Given the description of an element on the screen output the (x, y) to click on. 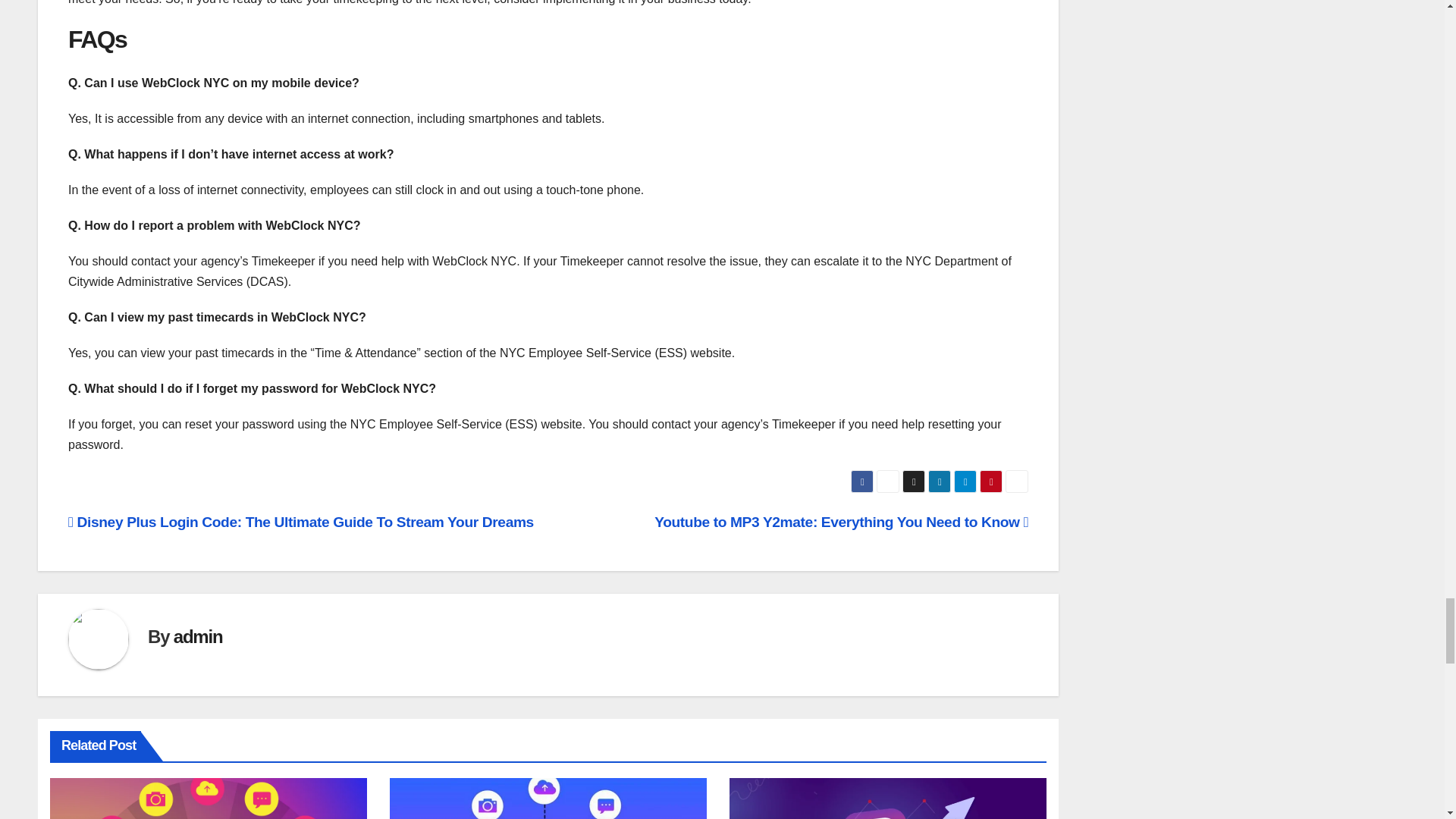
Youtube to MP3 Y2mate: Everything You Need to Know (840, 521)
admin (197, 636)
